Given the description of an element on the screen output the (x, y) to click on. 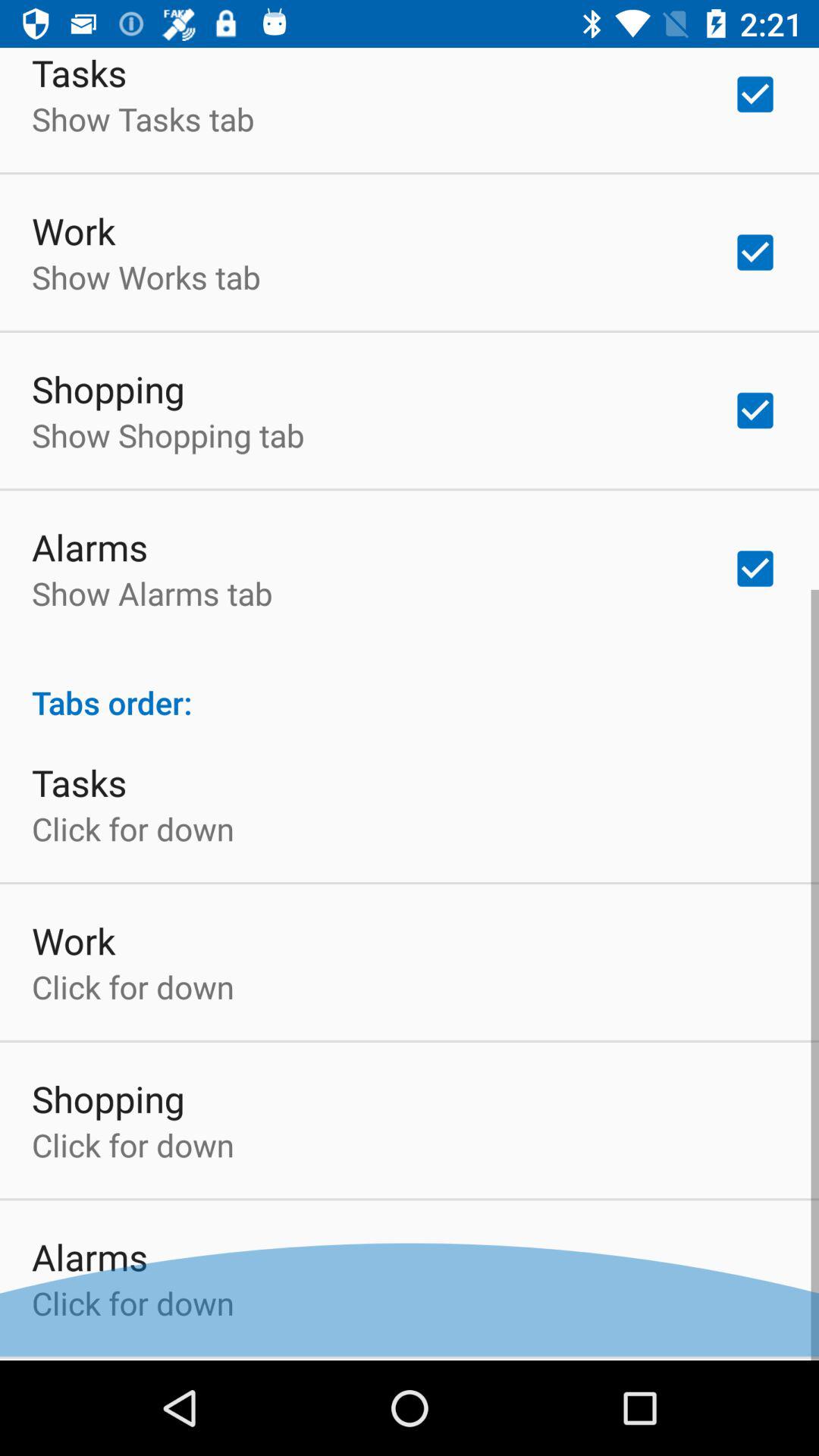
select the app below the show alarms tab app (409, 690)
